Given the description of an element on the screen output the (x, y) to click on. 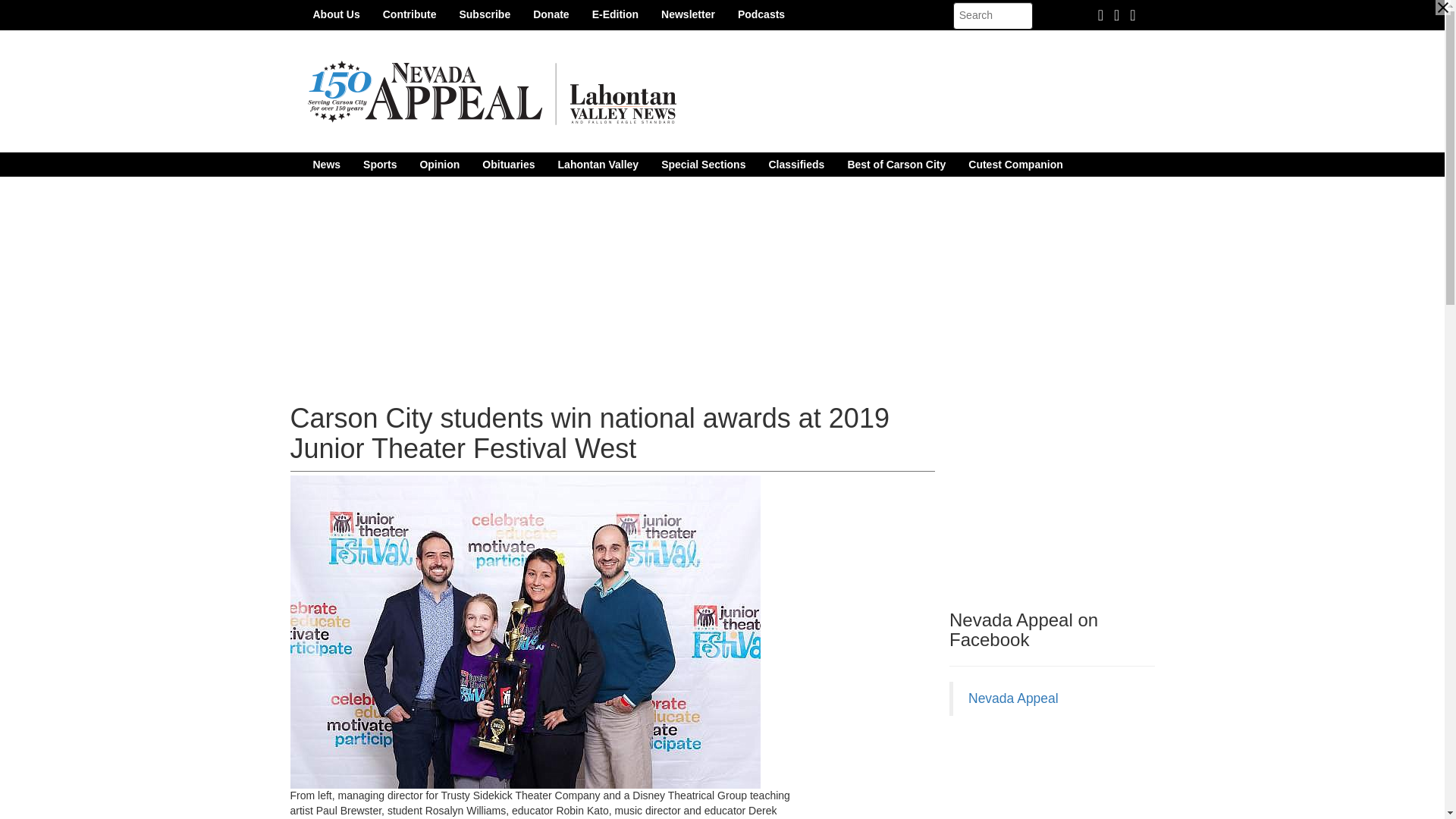
Special Sections (703, 164)
Podcasts (761, 14)
Opinion (438, 164)
Donate (550, 14)
Subscribe (483, 14)
Newsletter (687, 14)
Sports (379, 164)
News (326, 164)
Contribute (409, 14)
Best of Carson City (895, 164)
